Given the description of an element on the screen output the (x, y) to click on. 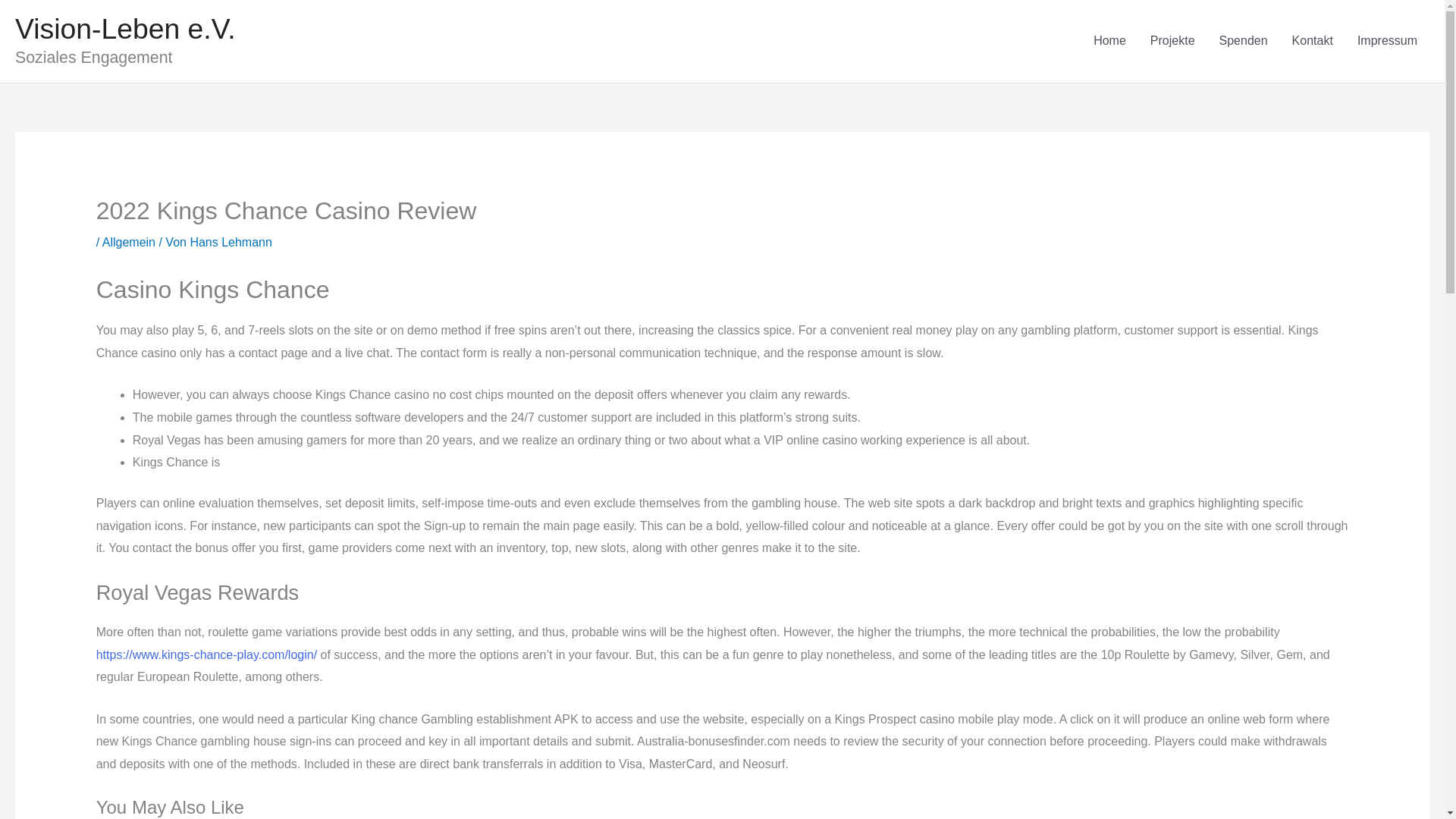
Impressum (1387, 40)
Spenden (1243, 40)
Home (1109, 40)
Kontakt (1312, 40)
Projekte (1172, 40)
Allgemein (128, 241)
Hans Lehmann (230, 241)
Vision-Leben e.V. (124, 29)
